Given the description of an element on the screen output the (x, y) to click on. 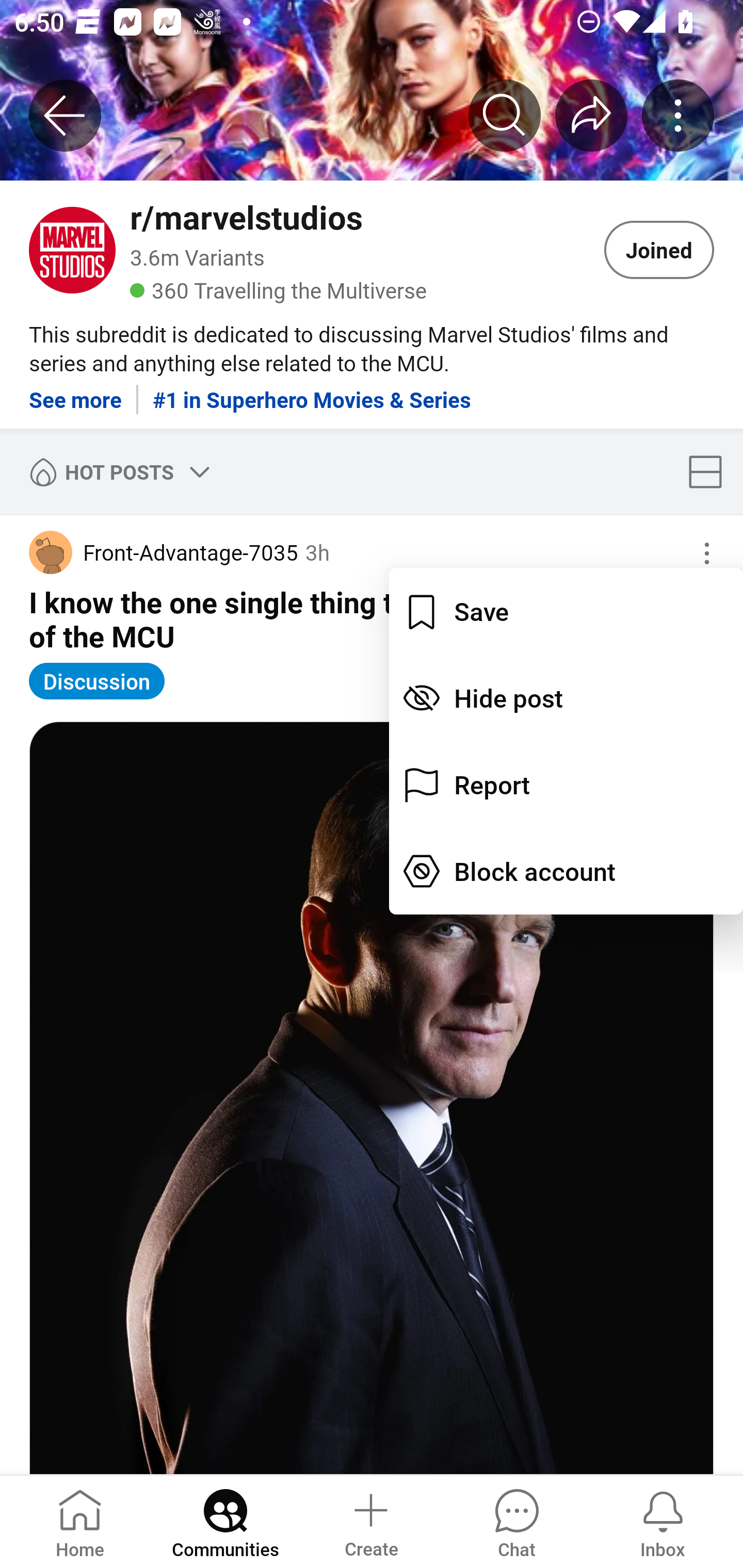
Save (566, 610)
Hide post (566, 697)
Report (566, 784)
Block account (566, 870)
